Given the description of an element on the screen output the (x, y) to click on. 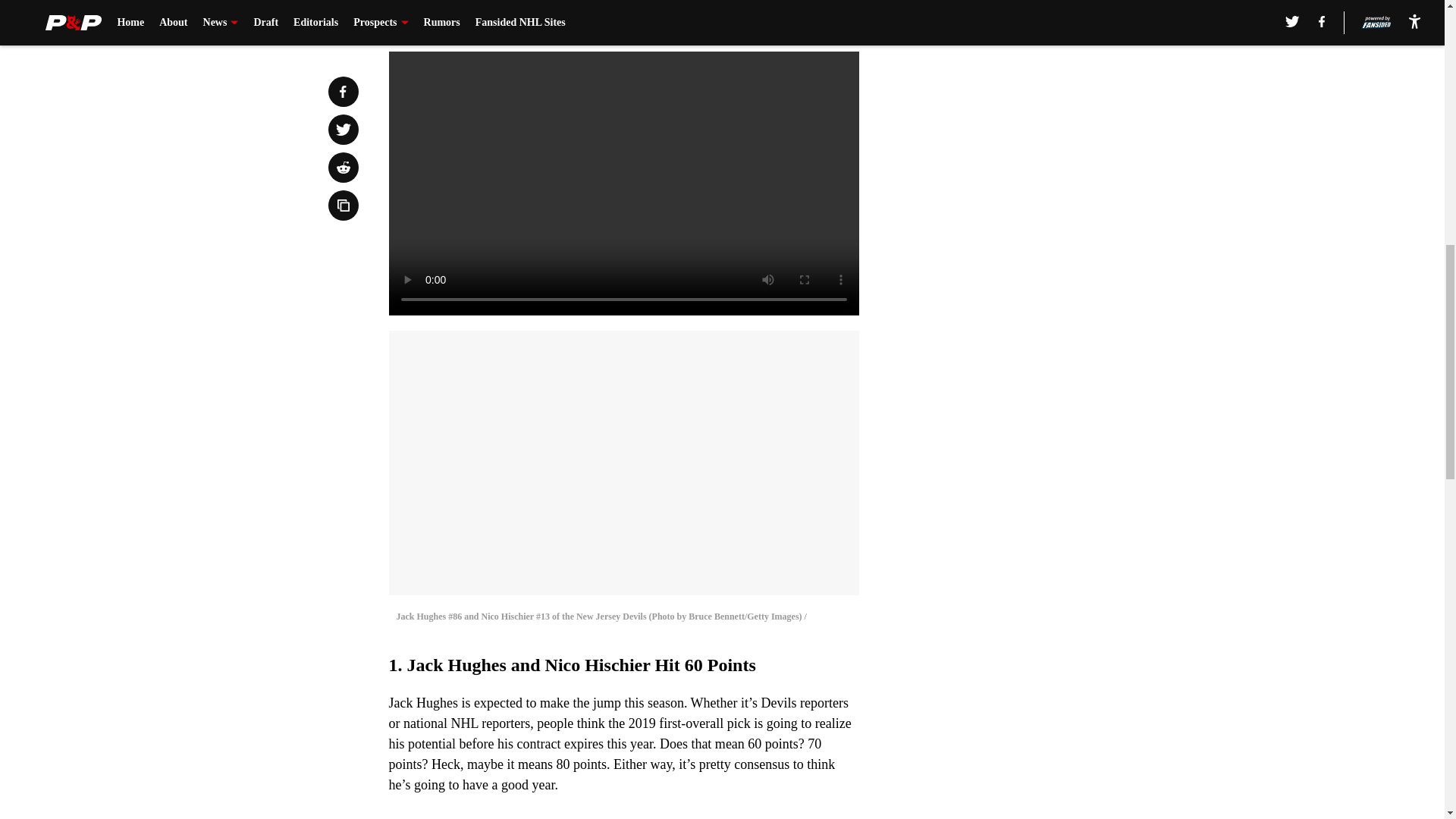
Next (813, 20)
Prev (433, 20)
3rd party ad content (1047, 320)
3rd party ad content (1047, 100)
